Given the description of an element on the screen output the (x, y) to click on. 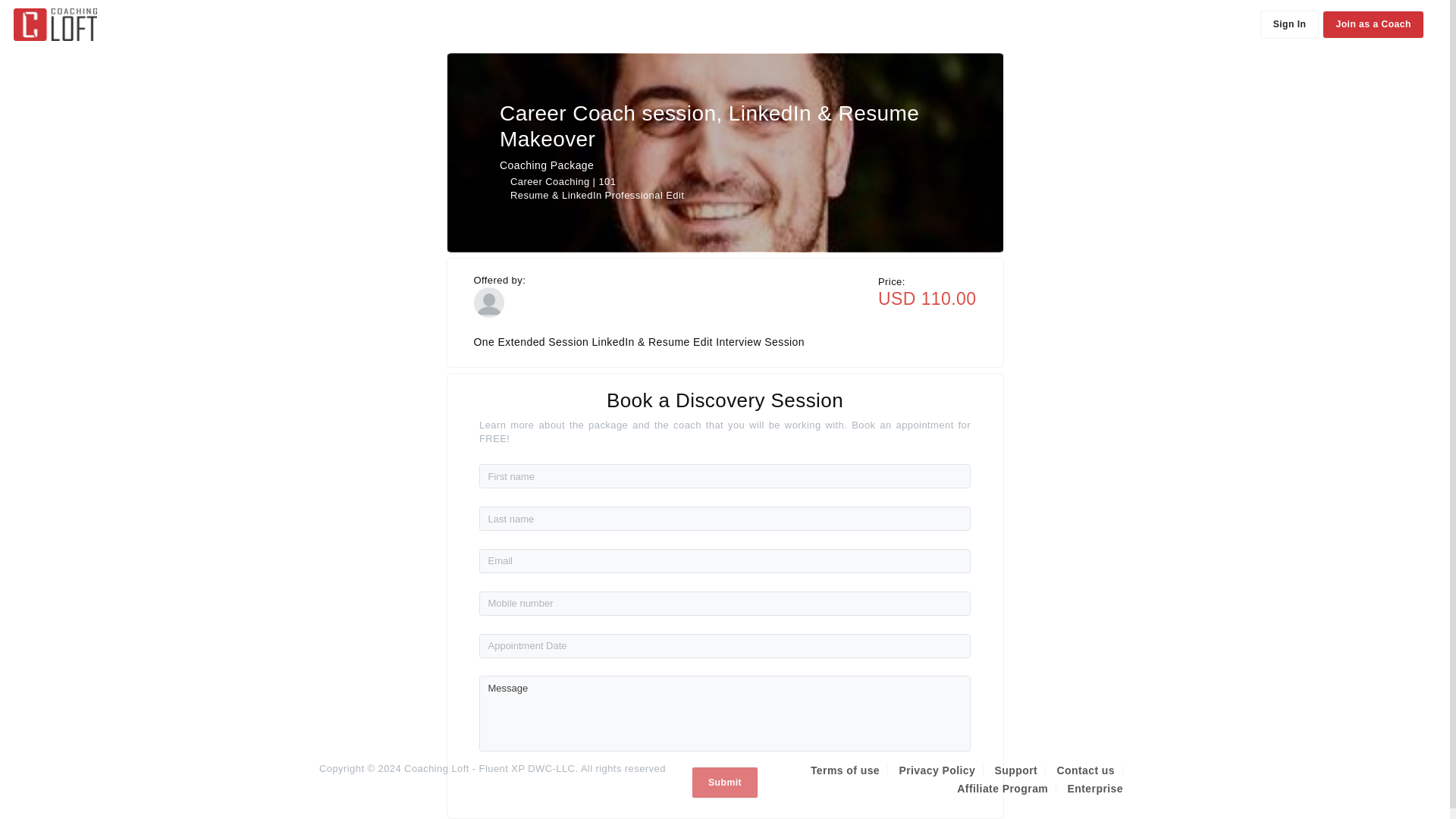
Sign In (1289, 24)
Join as a Coach (1373, 24)
